Given the description of an element on the screen output the (x, y) to click on. 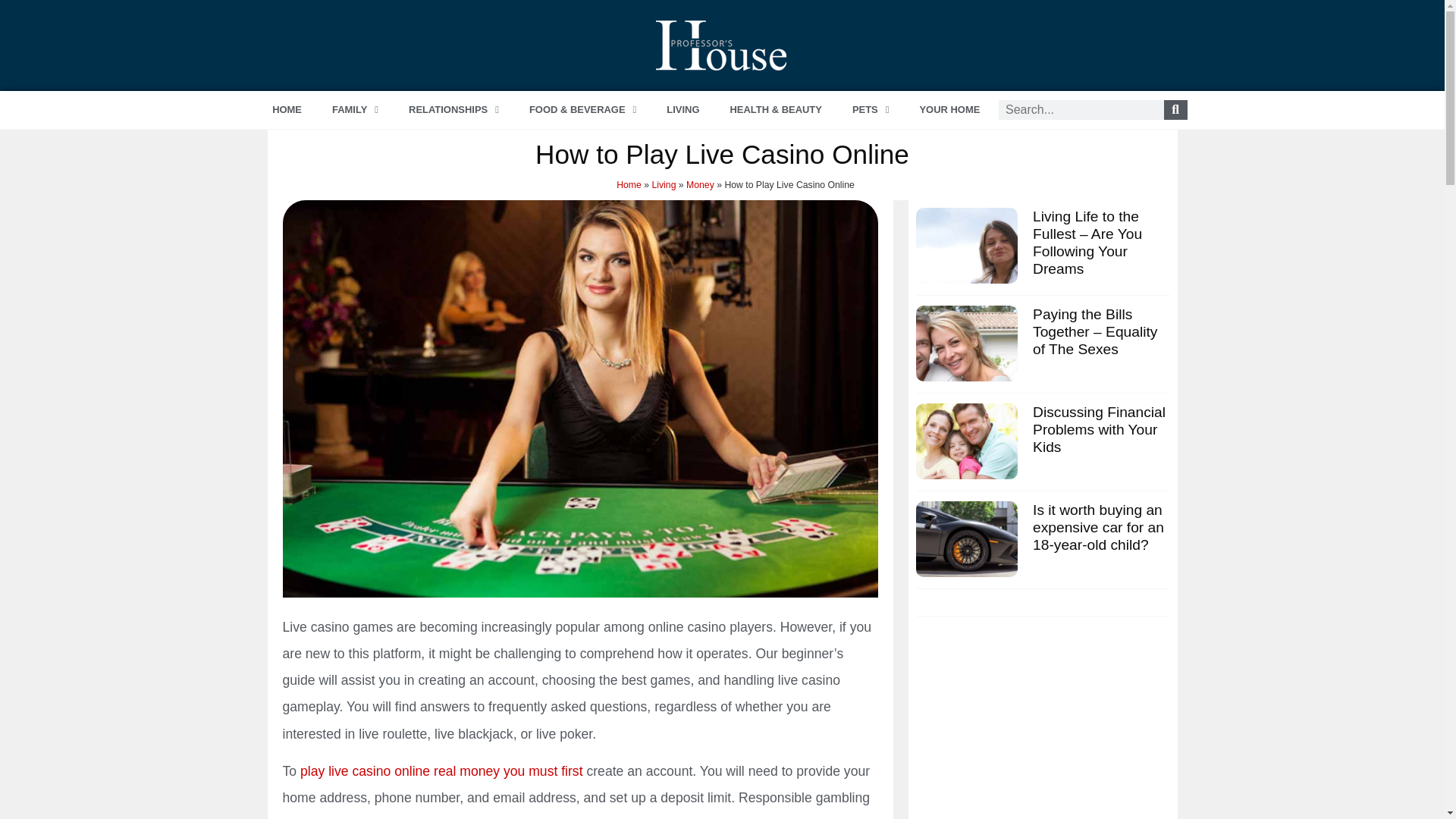
HOME (287, 109)
FAMILY (355, 109)
RELATIONSHIPS (453, 109)
YOUR HOME (949, 109)
Family (355, 109)
PETS (870, 109)
LIVING (682, 109)
